Given the description of an element on the screen output the (x, y) to click on. 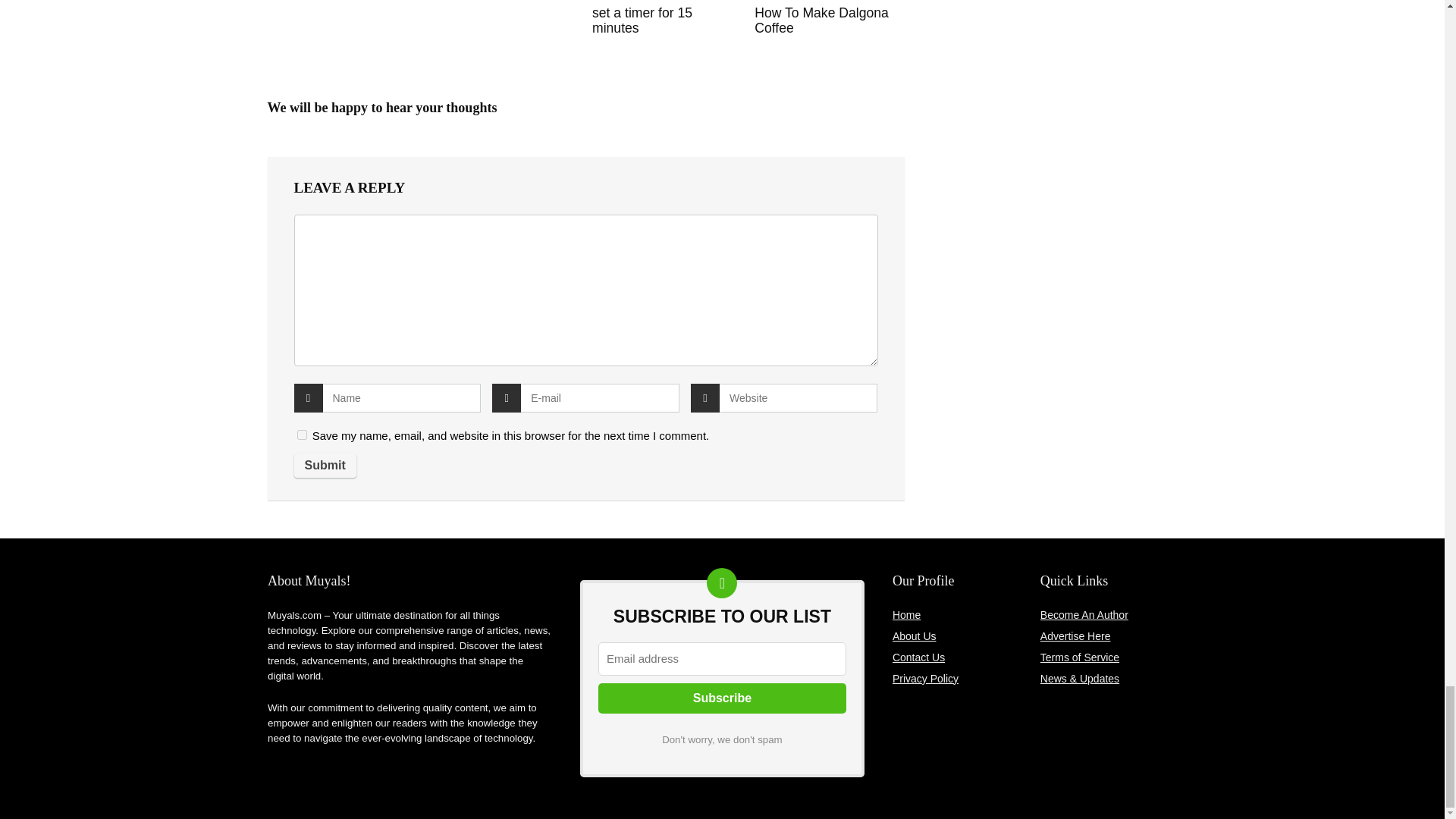
yes (302, 434)
Subscribe (721, 698)
set a timer for 15 minutes (642, 20)
Submit (325, 465)
